Given the description of an element on the screen output the (x, y) to click on. 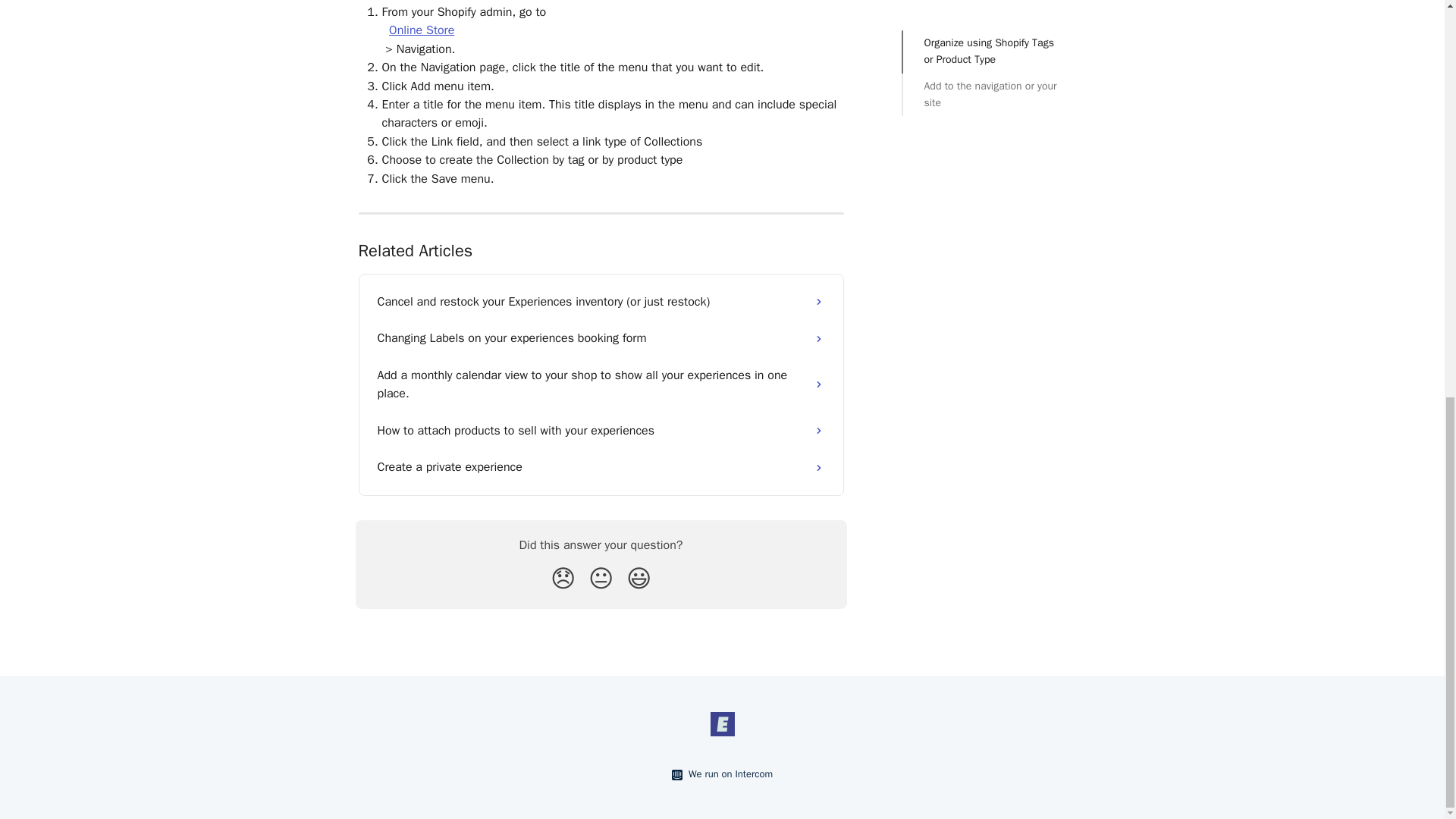
How to attach products to sell with your experiences (601, 430)
Online Store (421, 29)
Changing Labels on your experiences booking form (601, 338)
Create a private experience (601, 466)
We run on Intercom (727, 774)
